Given the description of an element on the screen output the (x, y) to click on. 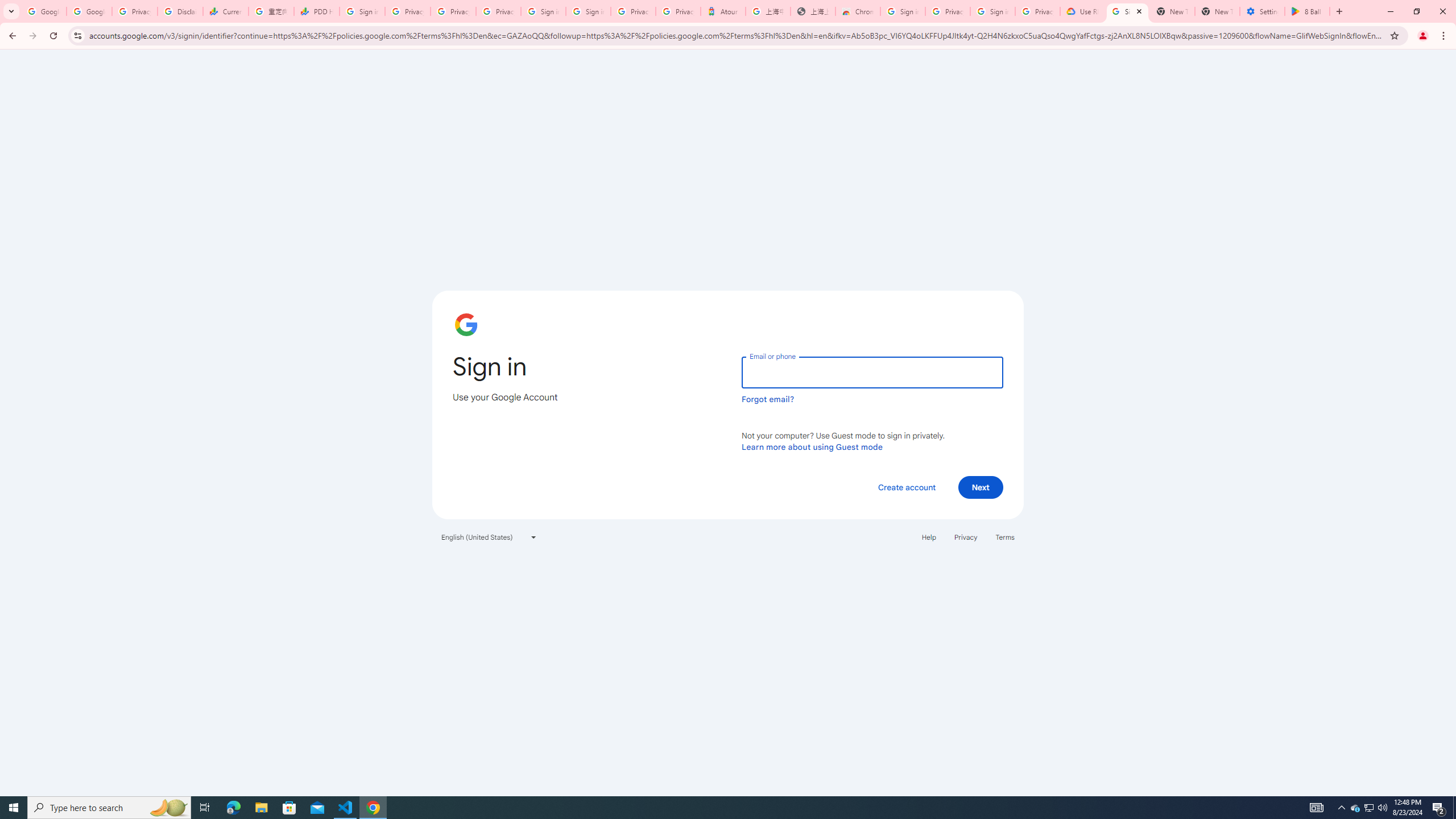
Sign in - Google Accounts (587, 11)
Privacy Checkup (452, 11)
